Given the description of an element on the screen output the (x, y) to click on. 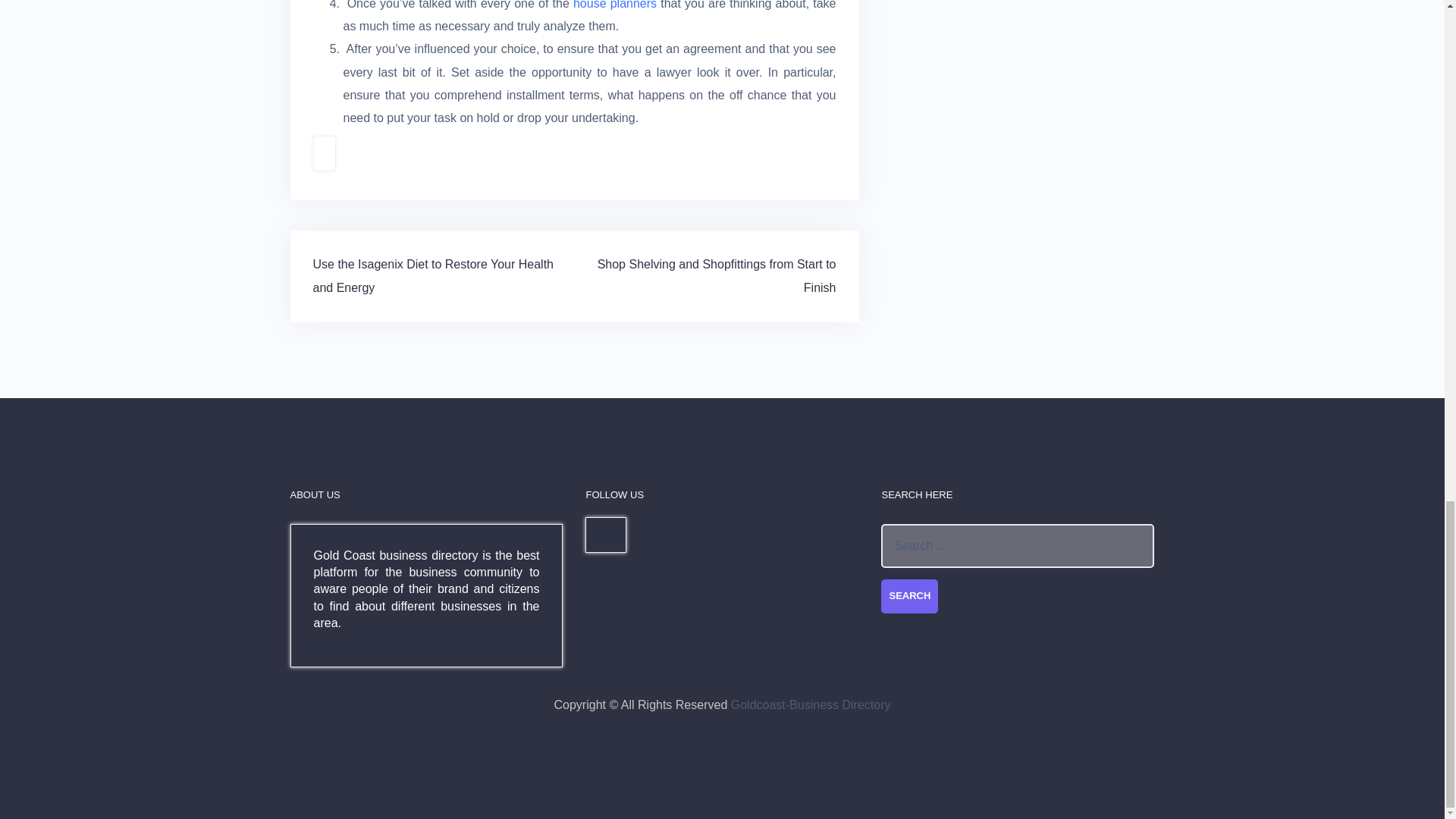
Search (908, 596)
Search (908, 596)
house planners (614, 4)
Use the Isagenix Diet to Restore Your Health and Energy (433, 275)
Search (908, 596)
Shop Shelving and Shopfittings from Start to Finish (715, 275)
